Given the description of an element on the screen output the (x, y) to click on. 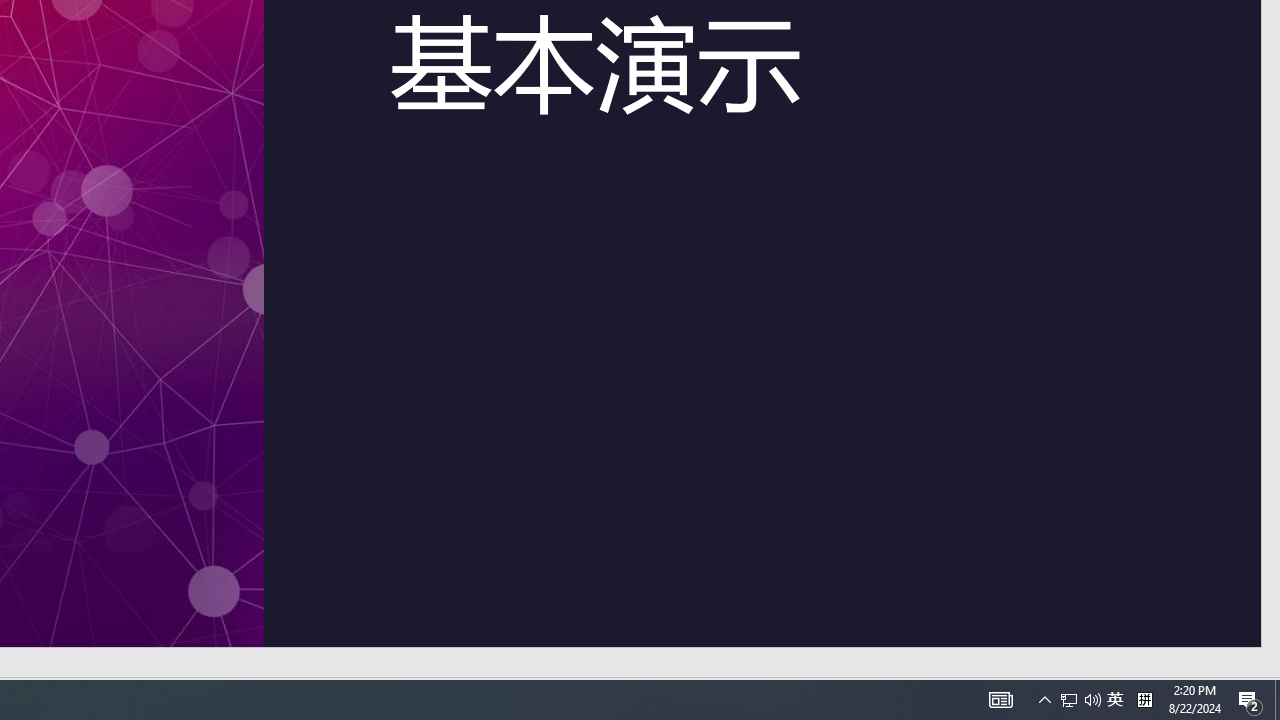
Zoom 161% (1245, 691)
